Given the description of an element on the screen output the (x, y) to click on. 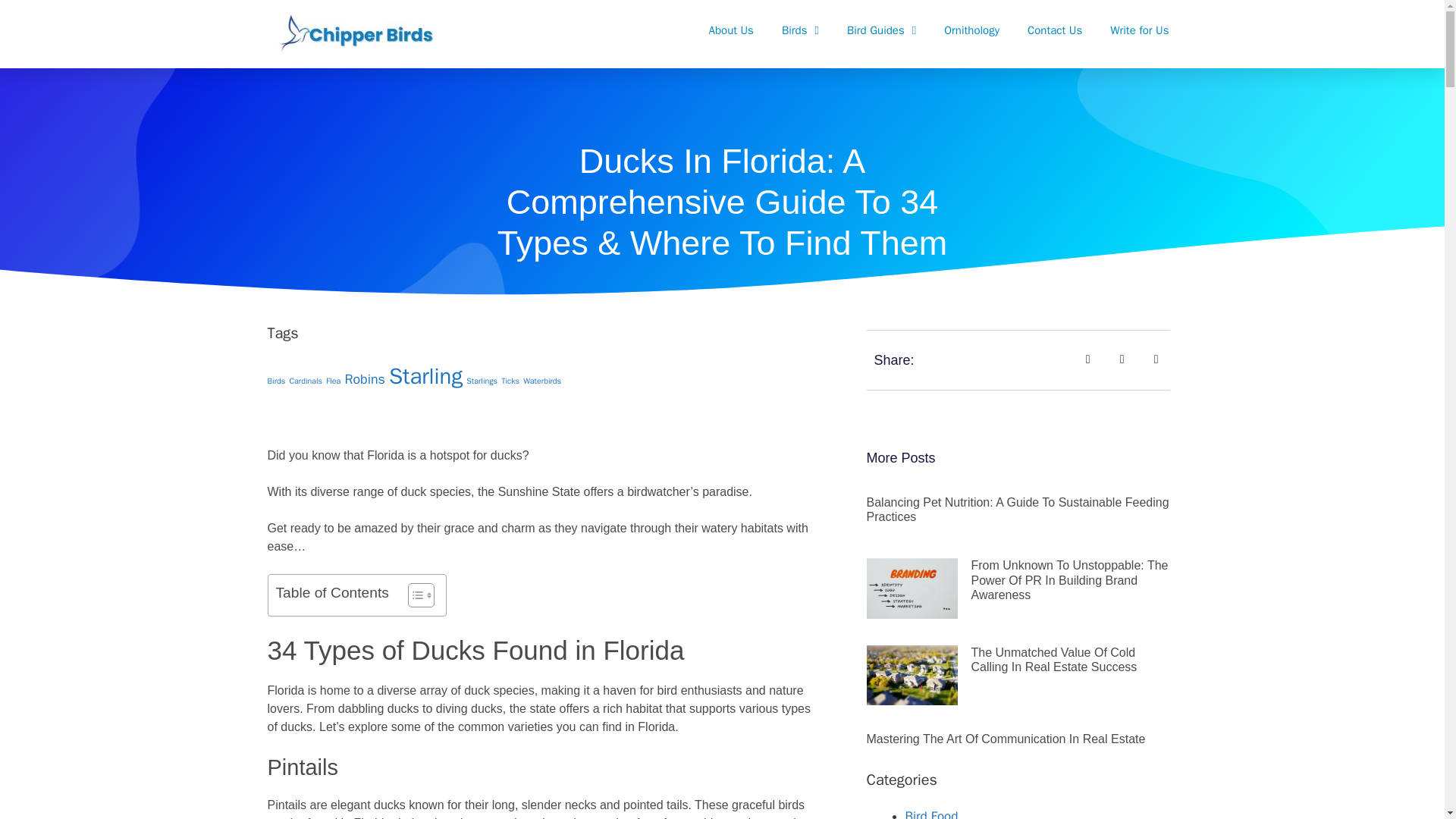
Contact Us (1054, 29)
About Us (730, 29)
Birds (799, 29)
Write for Us (1139, 29)
Bird Guides (881, 29)
Ornithology (971, 29)
